Given the description of an element on the screen output the (x, y) to click on. 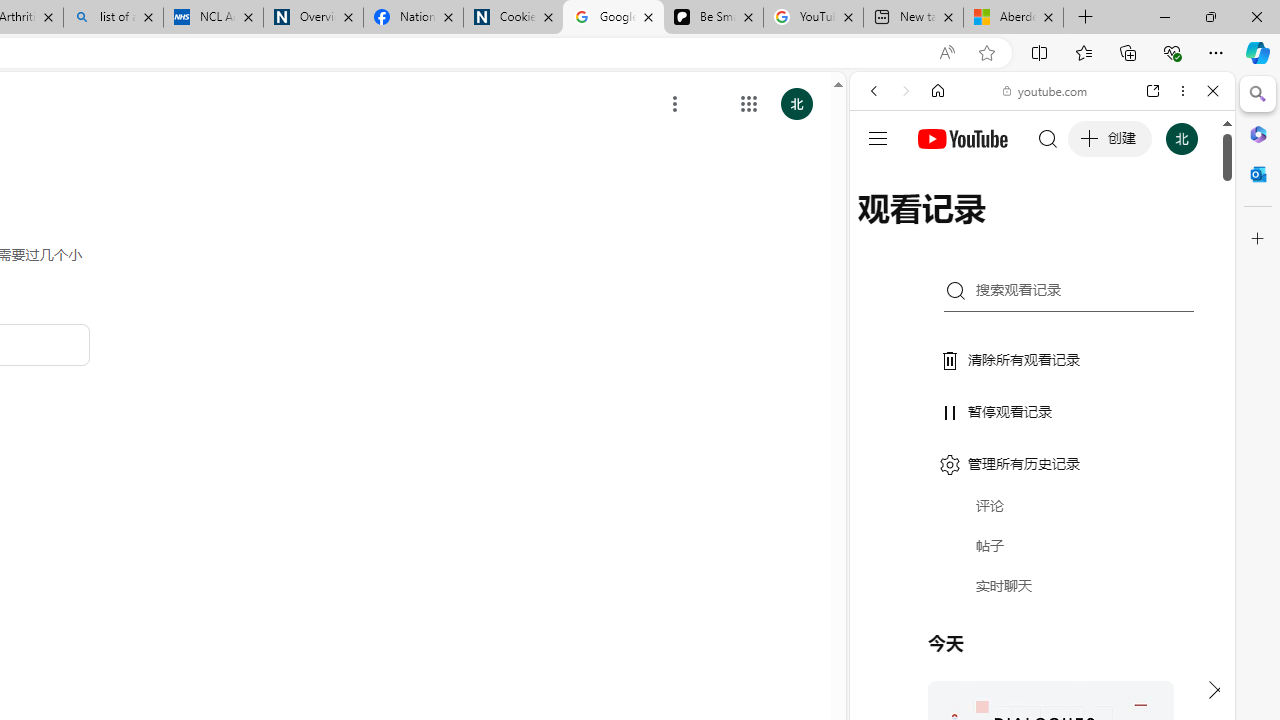
Aberdeen, Hong Kong SAR hourly forecast | Microsoft Weather (1013, 17)
Class: gb_E (749, 103)
Be Smart | creating Science videos | Patreon (713, 17)
WEB   (882, 228)
youtube.com (1046, 90)
